Given the description of an element on the screen output the (x, y) to click on. 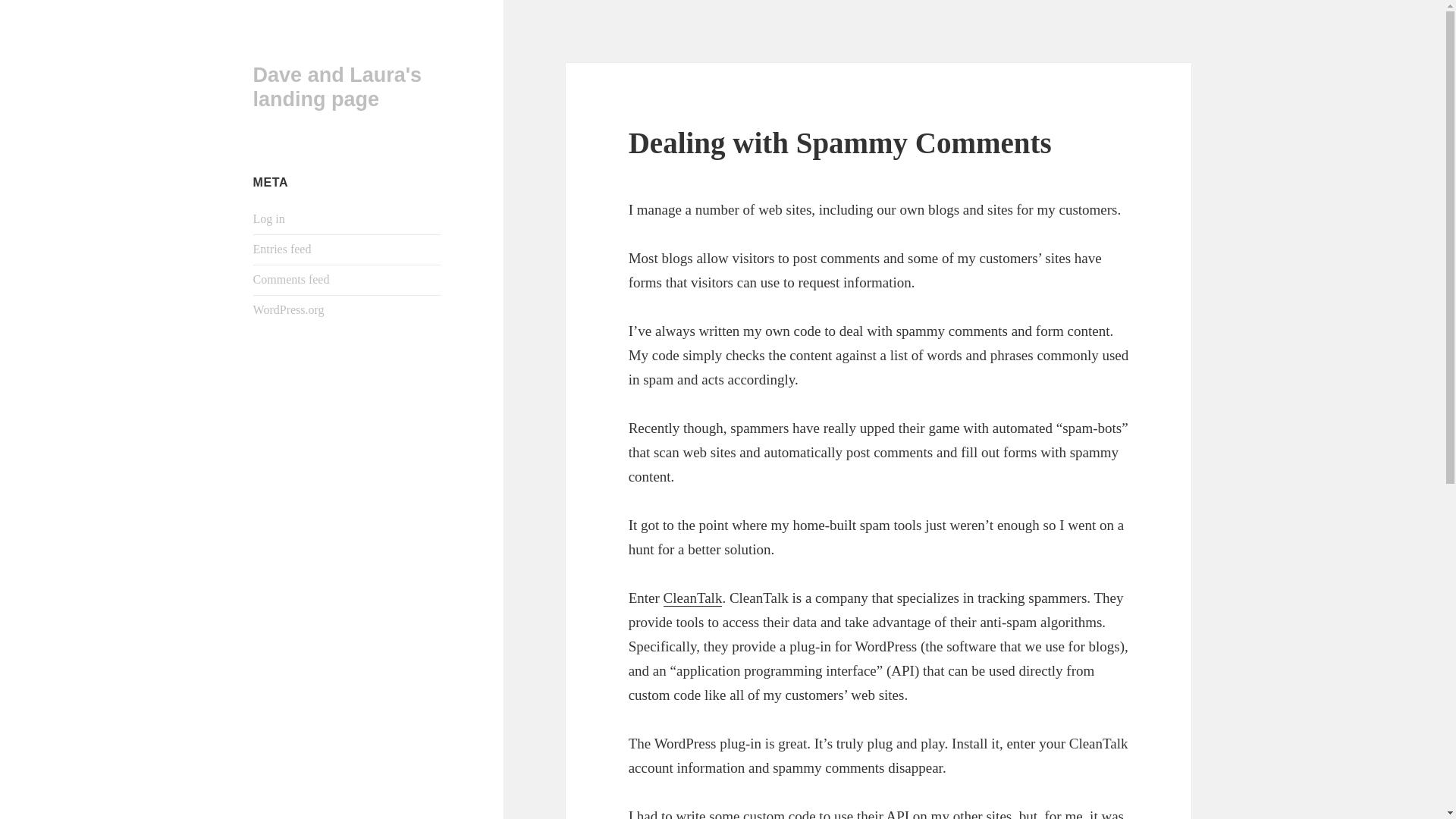
Dave and Laura's landing page (337, 86)
CleanTalk (692, 597)
Comments feed (291, 278)
Entries feed (282, 248)
WordPress.org (288, 309)
Log in (269, 218)
